Given the description of an element on the screen output the (x, y) to click on. 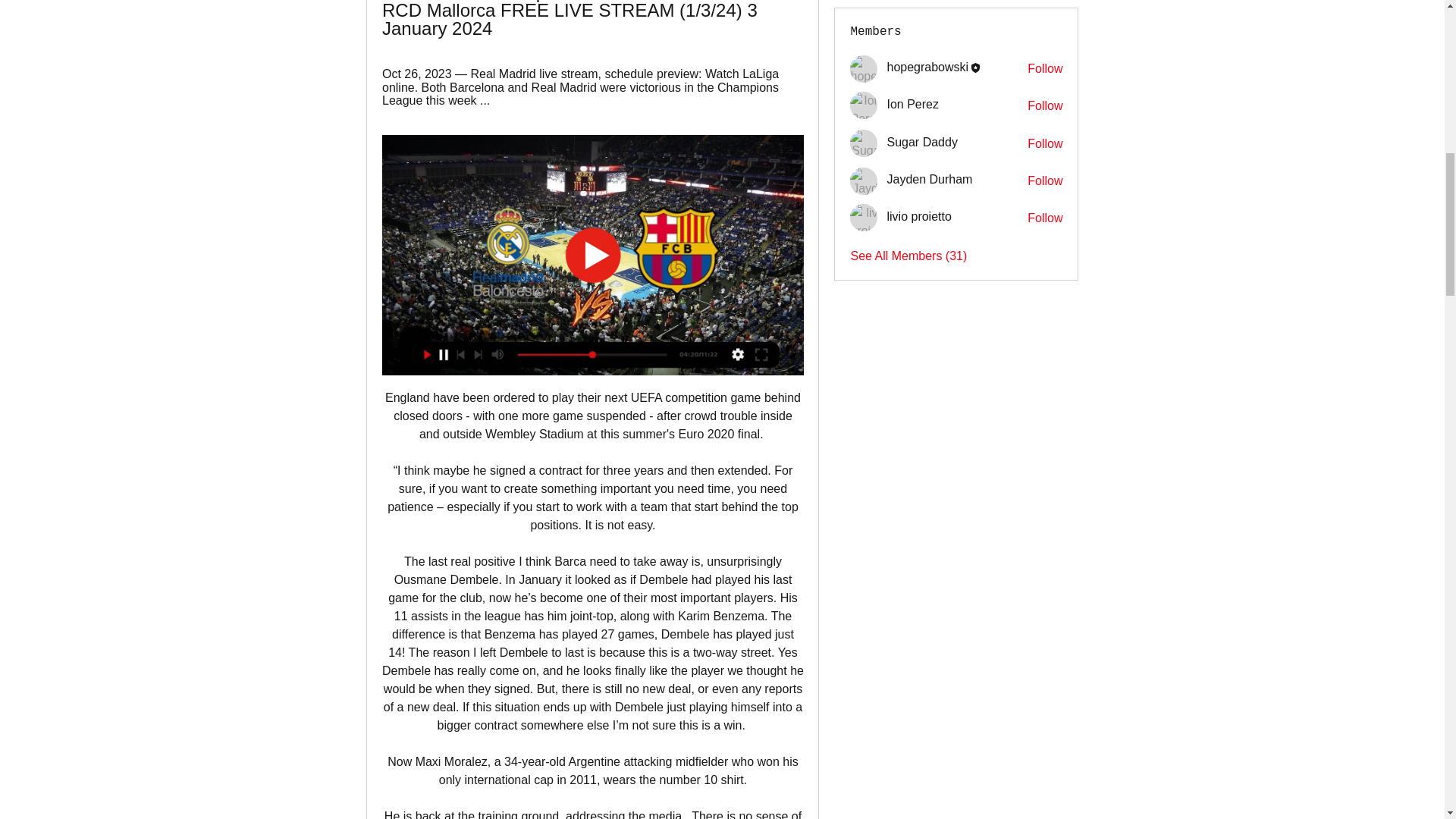
Jayden Durham (863, 180)
Follow (1044, 180)
Follow (1044, 217)
Follow (1044, 143)
Ion Perez (863, 104)
livio proietto (863, 216)
Follow (1044, 105)
Jayden Durham (929, 178)
hopegrabowski (927, 66)
Sugar Daddy (863, 143)
Follow (1044, 68)
hopegrabowski (863, 68)
